Given the description of an element on the screen output the (x, y) to click on. 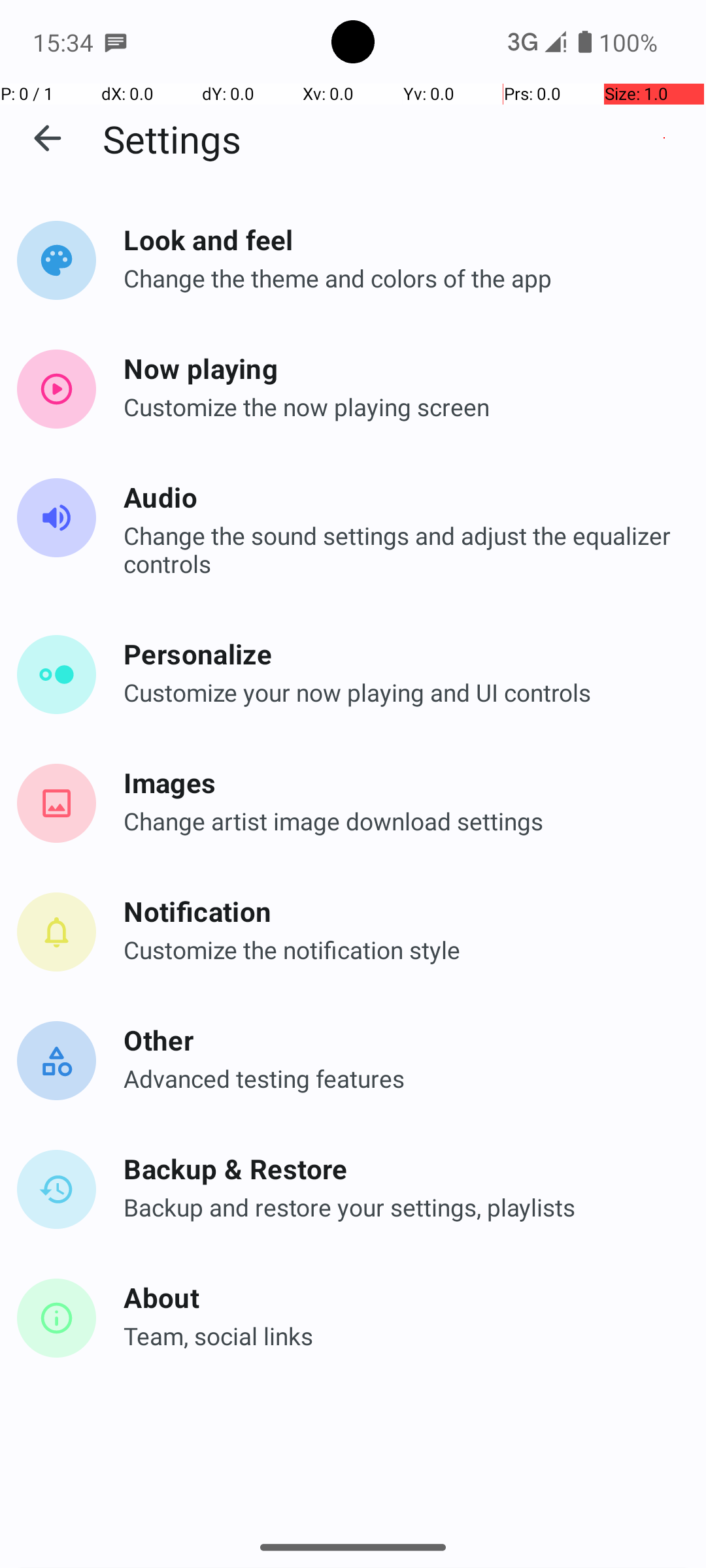
Look and feel Element type: android.widget.TextView (399, 239)
Change the theme and colors of the app Element type: android.widget.TextView (399, 277)
Now playing Element type: android.widget.TextView (399, 367)
Customize the now playing screen Element type: android.widget.TextView (399, 406)
Change the sound settings and adjust the equalizer controls Element type: android.widget.TextView (399, 549)
Personalize Element type: android.widget.TextView (399, 653)
Customize your now playing and UI controls Element type: android.widget.TextView (399, 691)
Change artist image download settings Element type: android.widget.TextView (399, 820)
Notification Element type: android.widget.TextView (399, 910)
Customize the notification style Element type: android.widget.TextView (399, 949)
Other Element type: android.widget.TextView (399, 1039)
Advanced testing features Element type: android.widget.TextView (399, 1077)
Backup & Restore Element type: android.widget.TextView (399, 1168)
Backup and restore your settings, playlists Element type: android.widget.TextView (399, 1206)
About Element type: android.widget.TextView (399, 1296)
Team, social links Element type: android.widget.TextView (399, 1335)
